Given the description of an element on the screen output the (x, y) to click on. 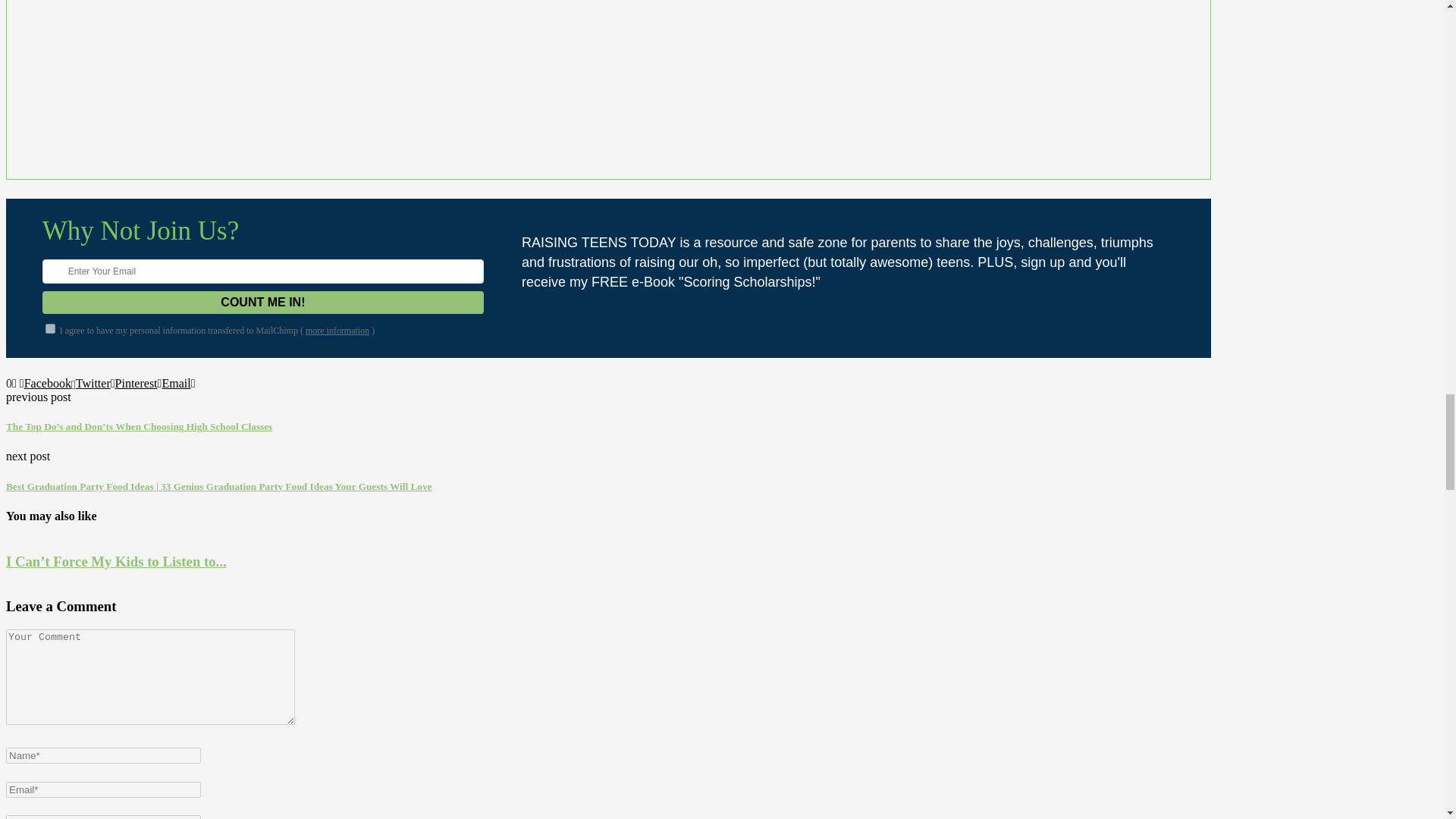
COUNT ME IN! (263, 302)
on (50, 328)
